Given the description of an element on the screen output the (x, y) to click on. 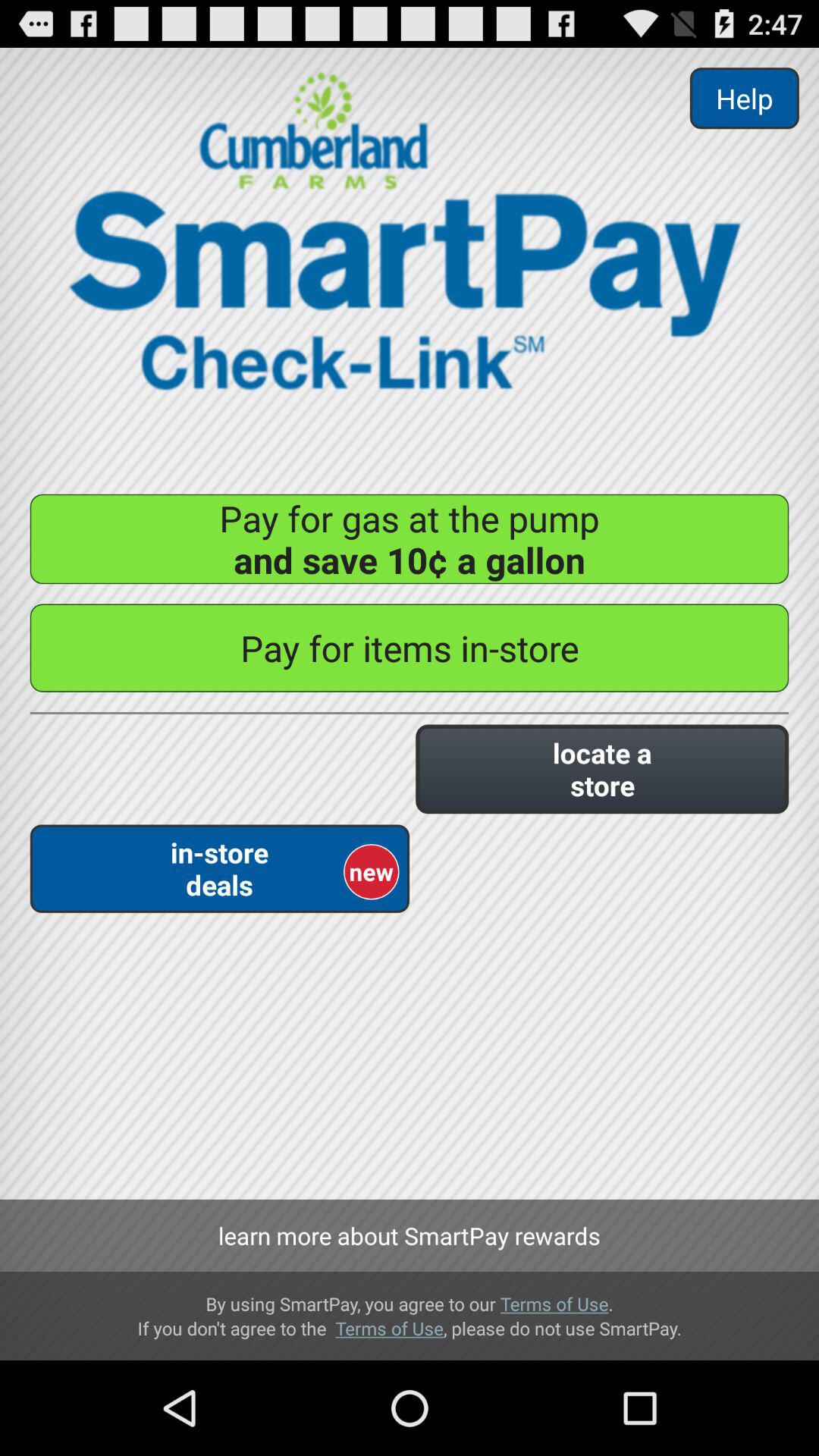
choose button above the in-store
deals (601, 768)
